Given the description of an element on the screen output the (x, y) to click on. 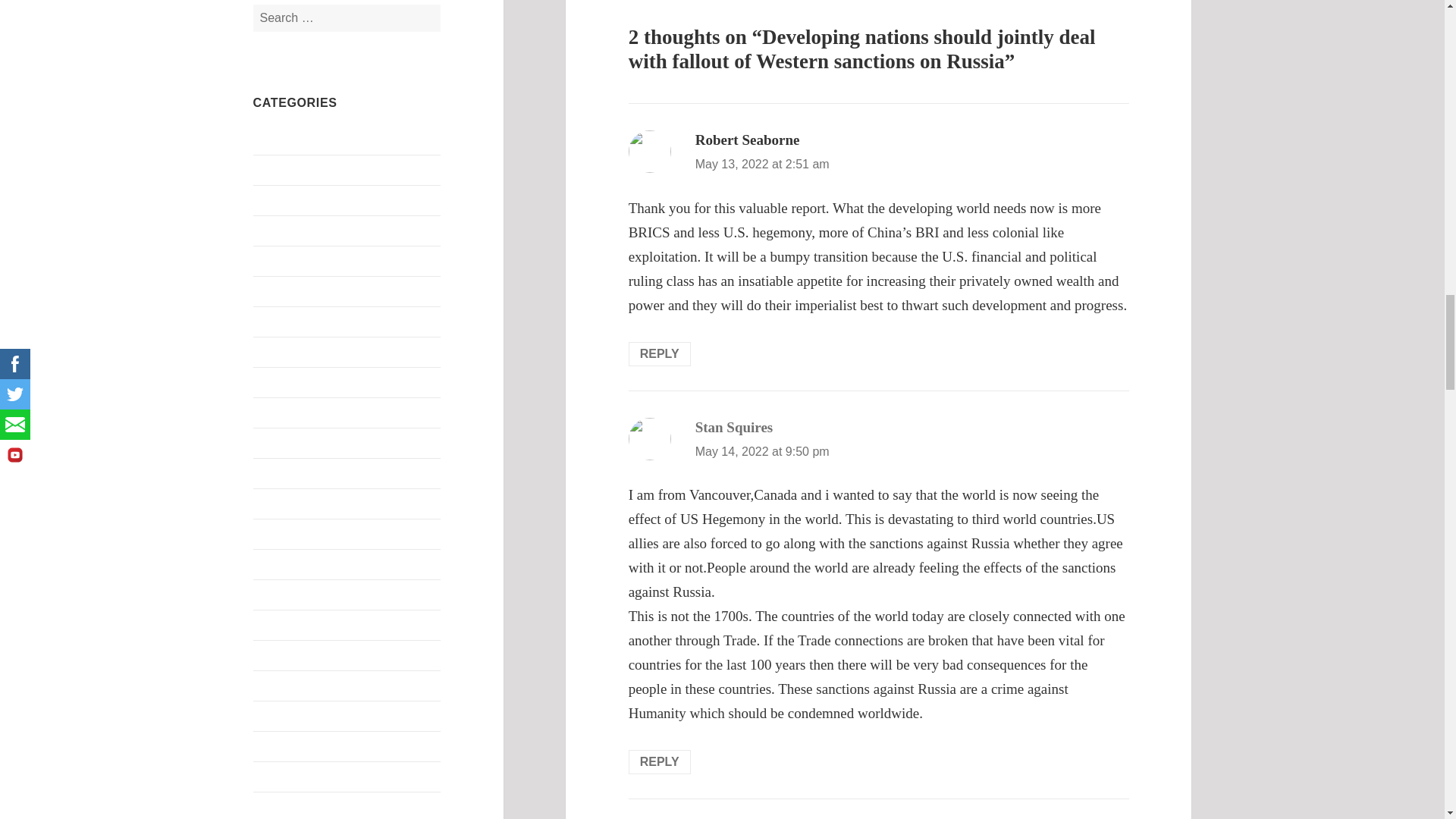
Agriculture (280, 169)
Asia (264, 199)
Africa (268, 138)
